Given the description of an element on the screen output the (x, y) to click on. 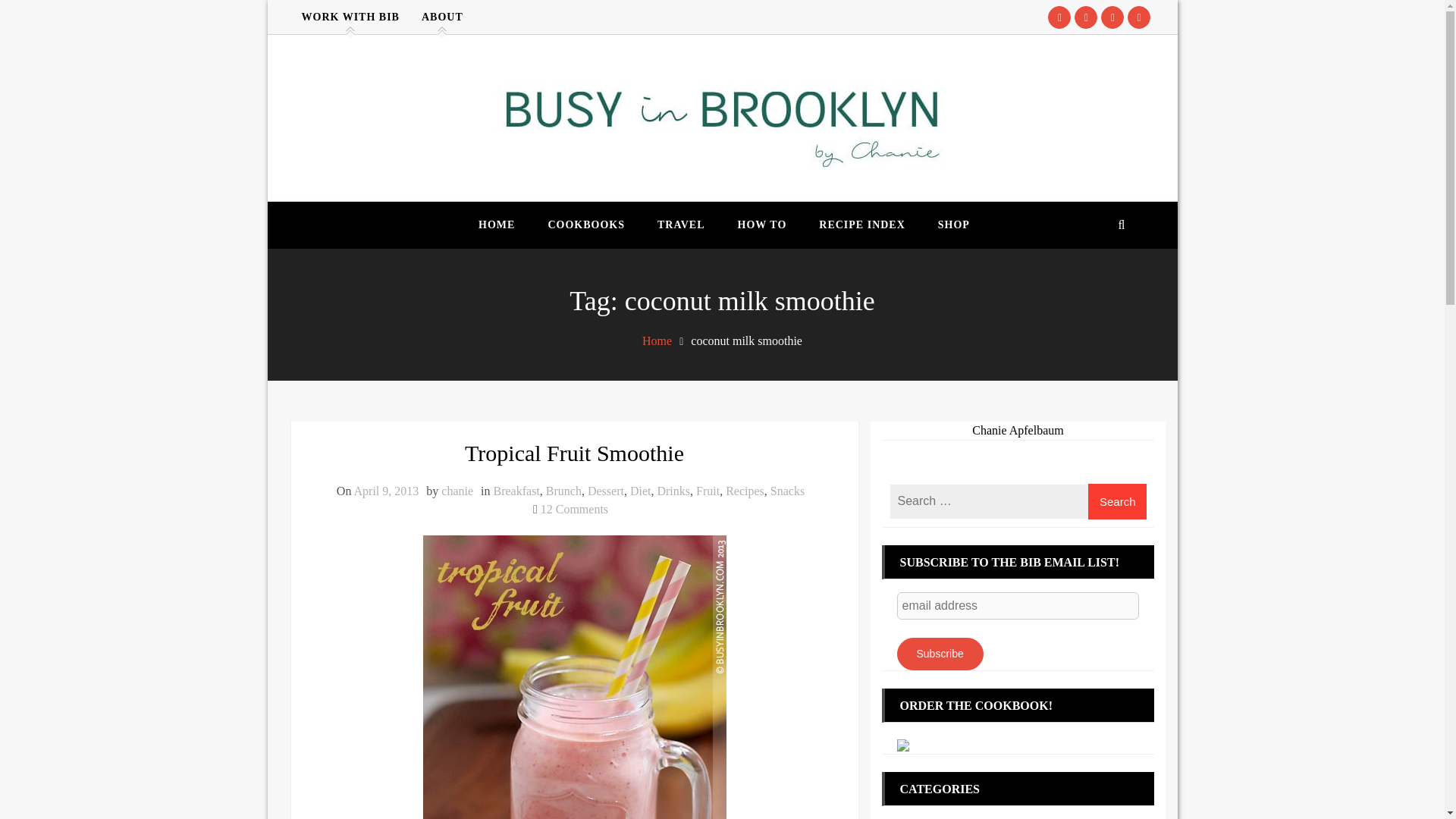
COOKBOOKS (585, 225)
Fruit (707, 490)
Drinks (673, 490)
WORK WITH BIB (574, 508)
Diet (350, 17)
HOME (640, 490)
Breakfast (496, 225)
HOW TO (516, 490)
TRAVEL (762, 225)
ABOUT (681, 225)
Home (441, 17)
Dessert (656, 340)
April 9, 2013 (606, 490)
Brunch (386, 490)
